Given the description of an element on the screen output the (x, y) to click on. 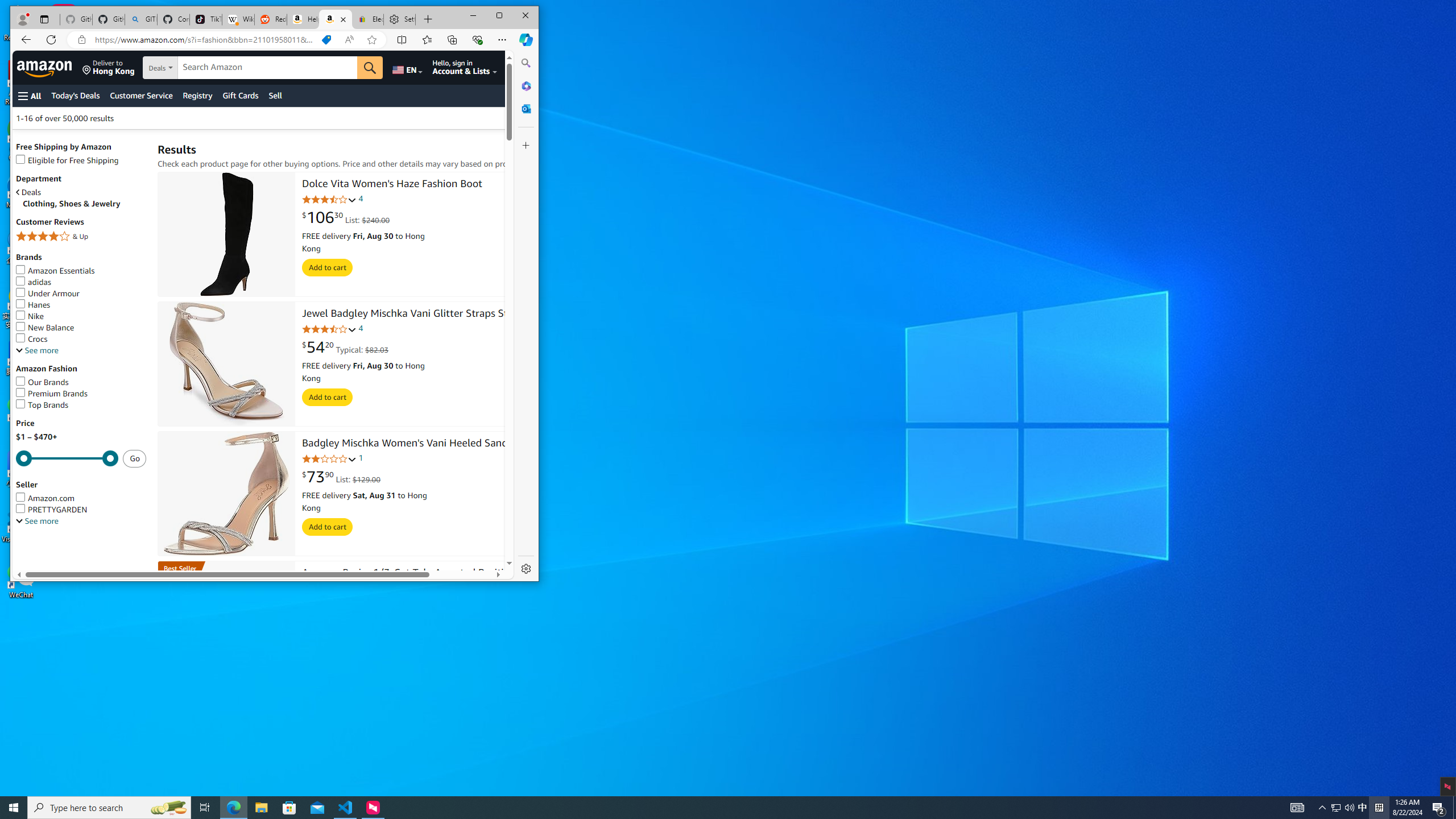
Show desktop (1454, 807)
Premium Brands (80, 393)
PRETTYGARDEN (80, 509)
Minimum (67, 458)
Our Brands (80, 382)
Under Armour (80, 293)
TikTok (205, 19)
Start (13, 807)
Badgley Mischka Women's Vani Heeled Sandal (226, 493)
Microsoft Store (289, 807)
